Given the description of an element on the screen output the (x, y) to click on. 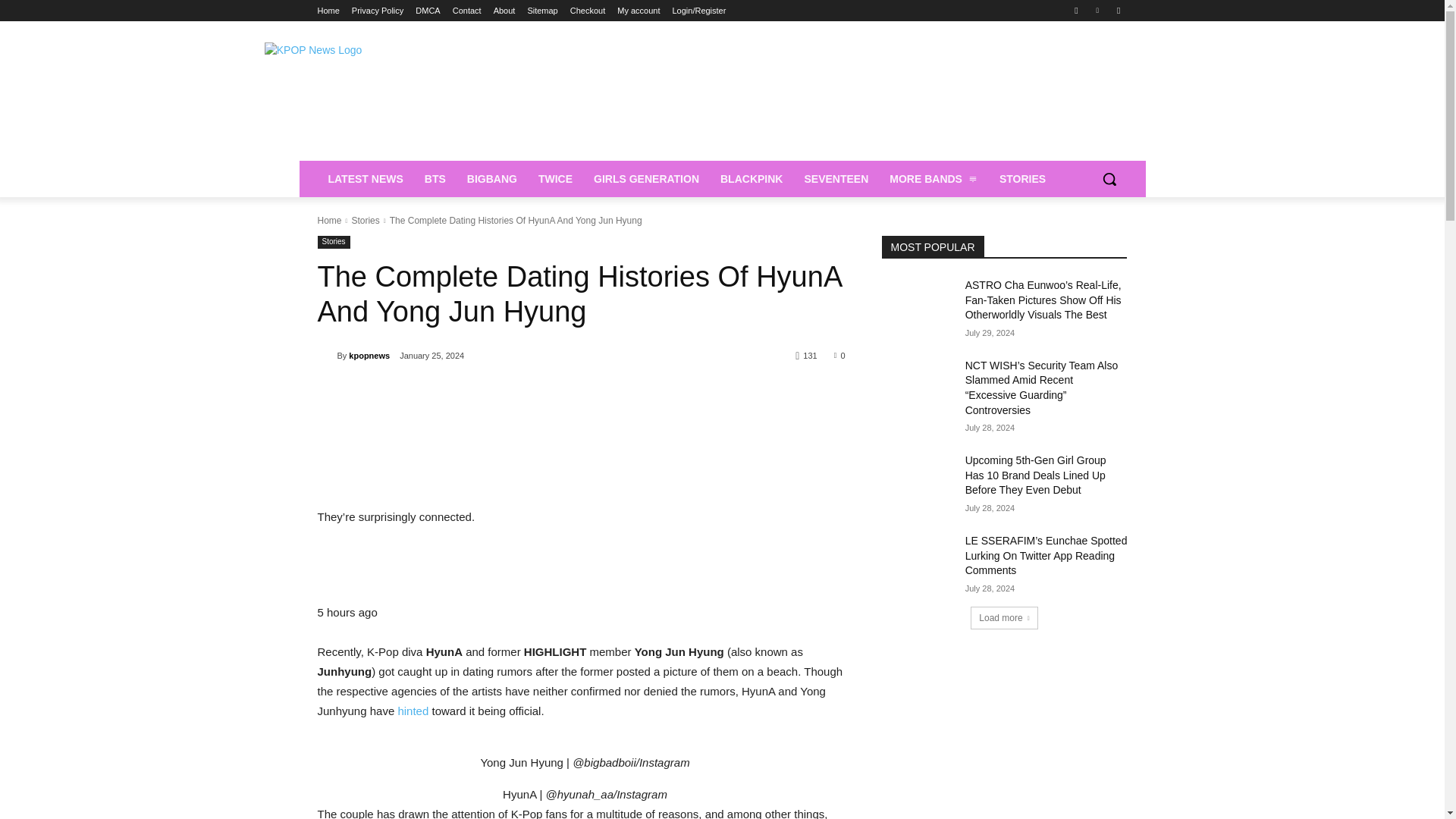
kpopnews (326, 355)
My account (638, 10)
Facebook (1075, 9)
BTS (435, 178)
Privacy Policy (377, 10)
About (504, 10)
View all posts in Stories (364, 220)
RSS (1117, 9)
Sitemap (542, 10)
Checkout (587, 10)
Pinterest (1097, 9)
Contact (466, 10)
LATEST NEWS (365, 178)
DMCA (426, 10)
KPOP News Logo (438, 97)
